Given the description of an element on the screen output the (x, y) to click on. 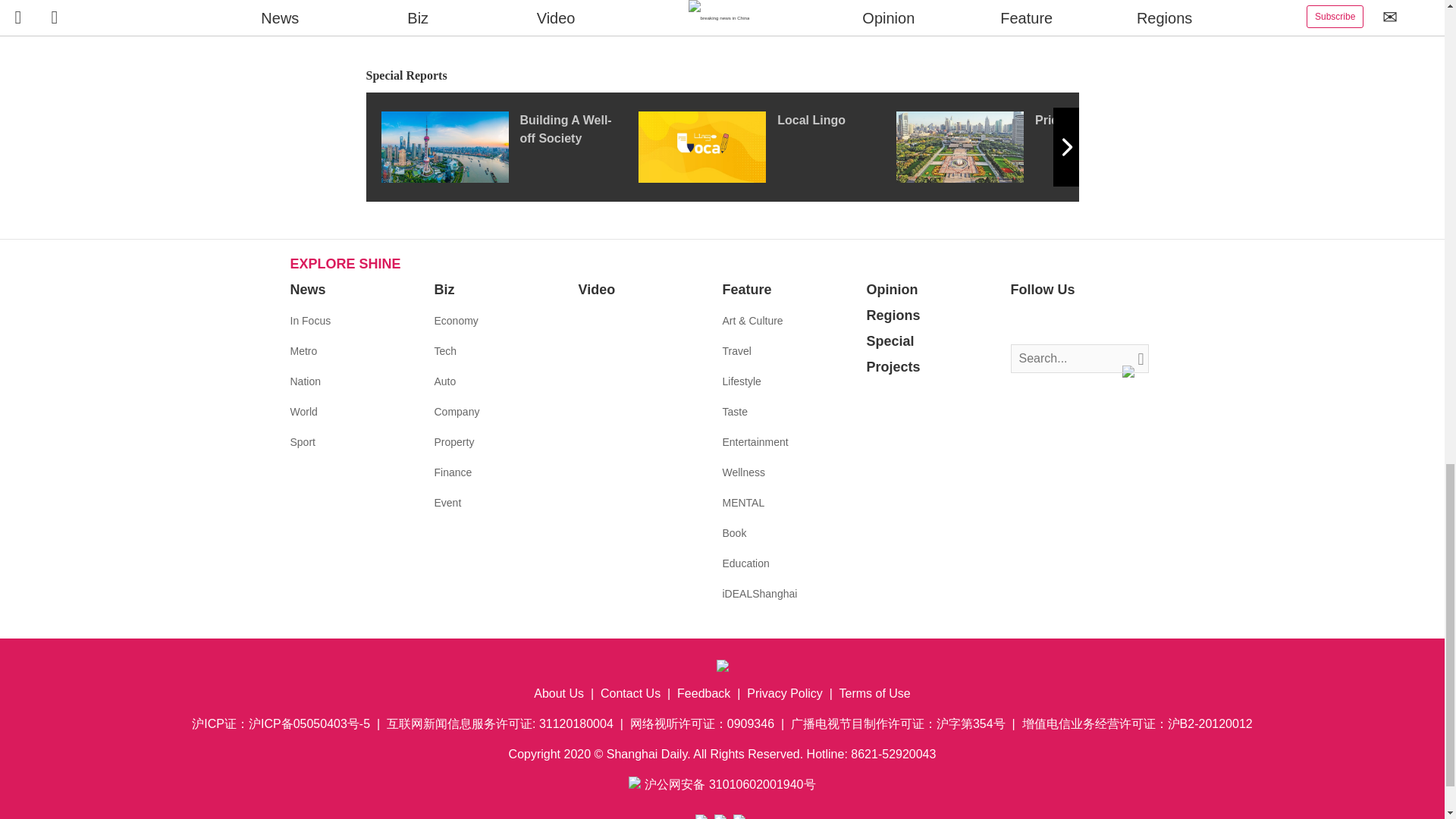
Follow us on Twitter (1044, 321)
Follow us on Wechat (1112, 321)
Pride of Place (1024, 146)
Local Lingo (767, 146)
Follow us on Youtube (1090, 321)
Follow us on Instagram (1067, 321)
Building A Well-off Society (508, 146)
Special Reports (721, 76)
Follow us on Facebook (1021, 321)
